Given the description of an element on the screen output the (x, y) to click on. 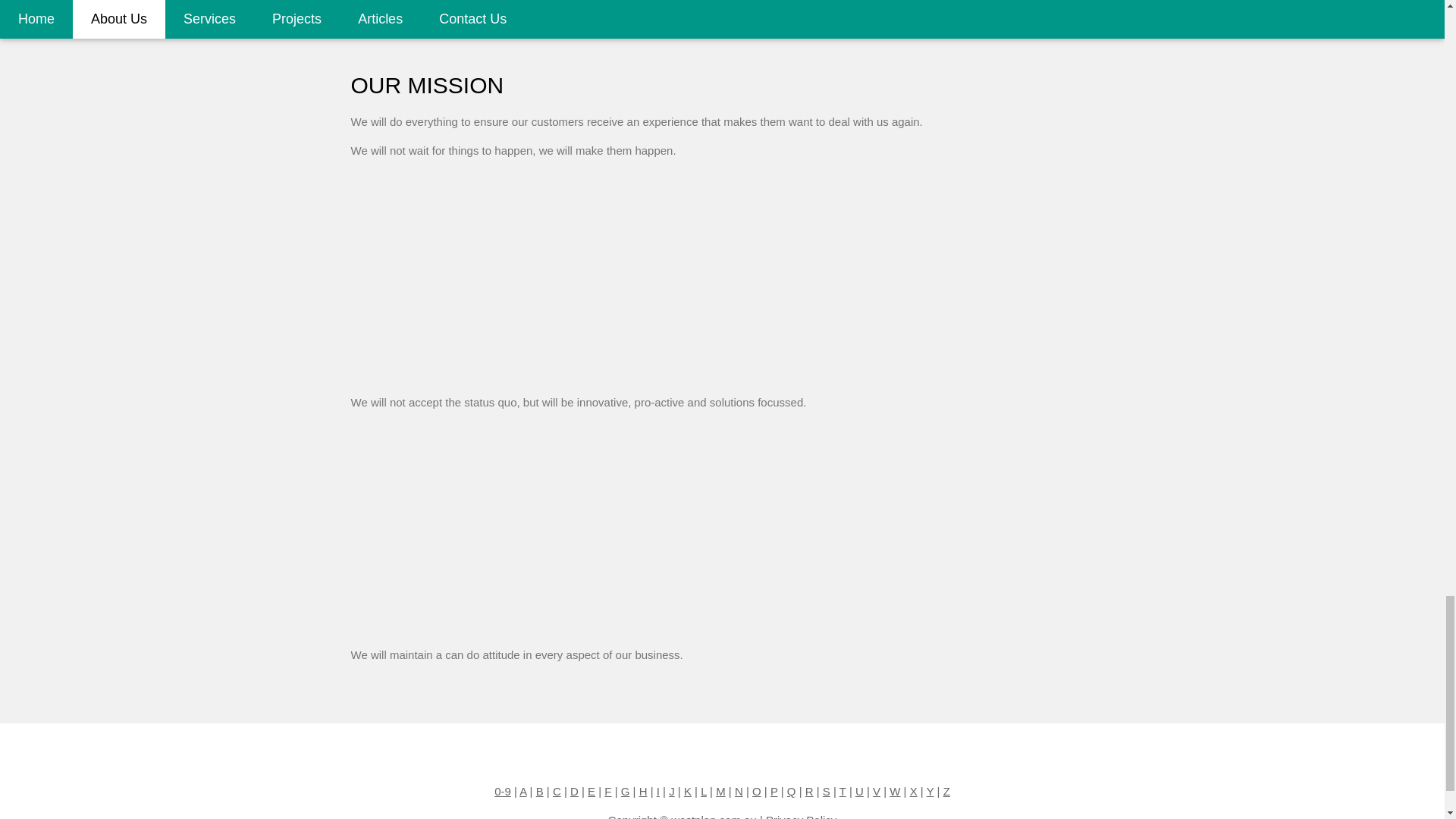
0-9 (503, 790)
